Given the description of an element on the screen output the (x, y) to click on. 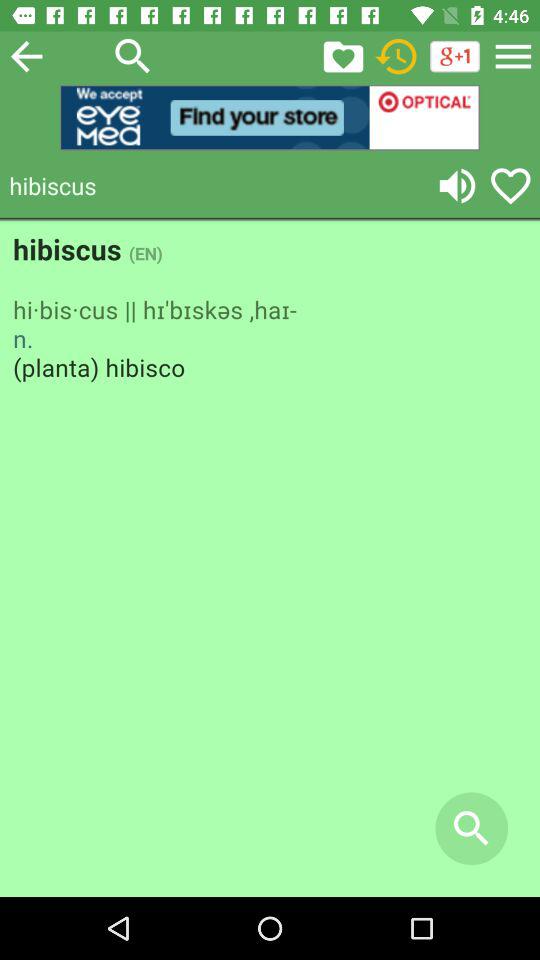
go to refresh (396, 56)
